Given the description of an element on the screen output the (x, y) to click on. 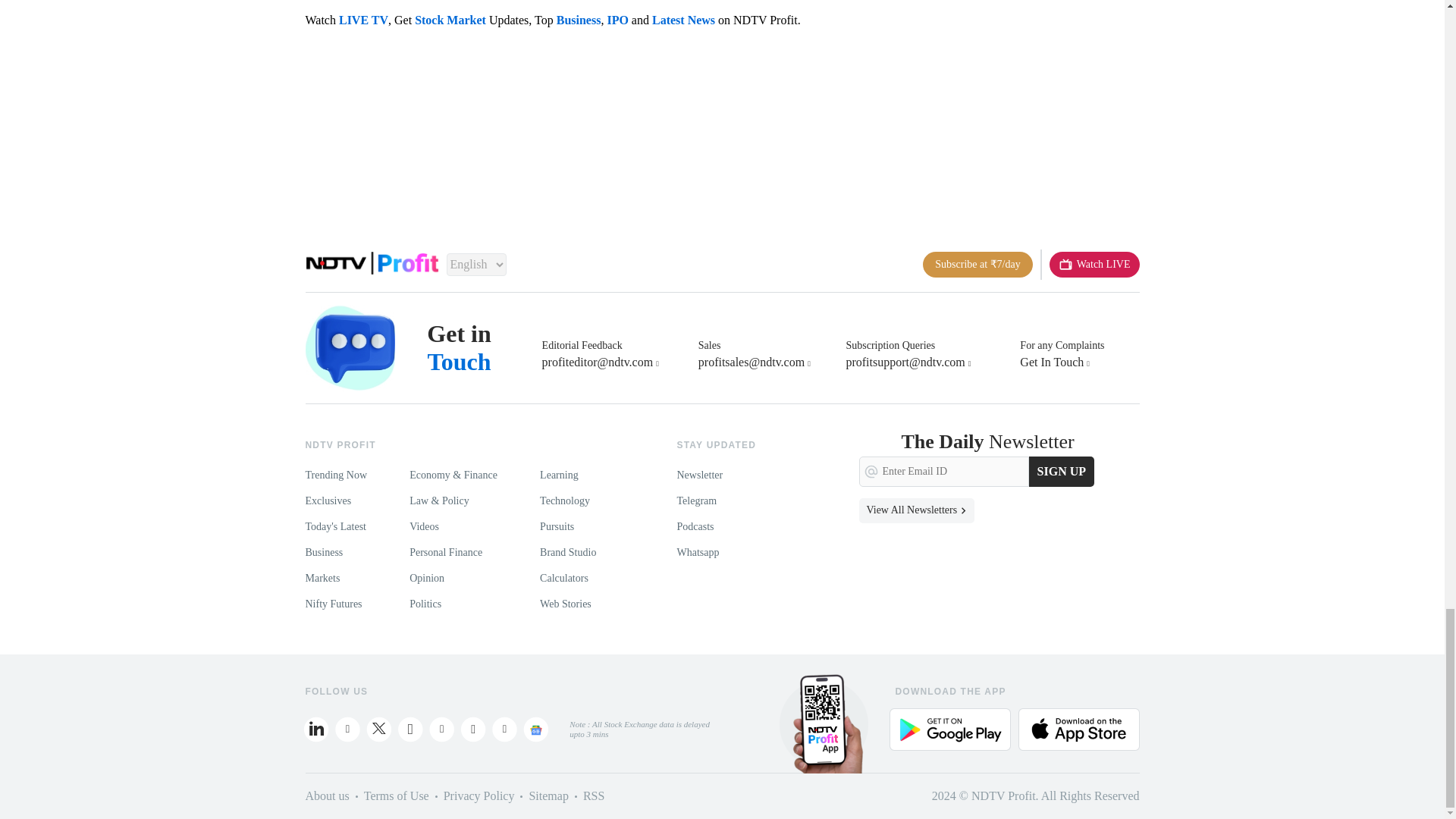
Live TV (1094, 264)
